Given the description of an element on the screen output the (x, y) to click on. 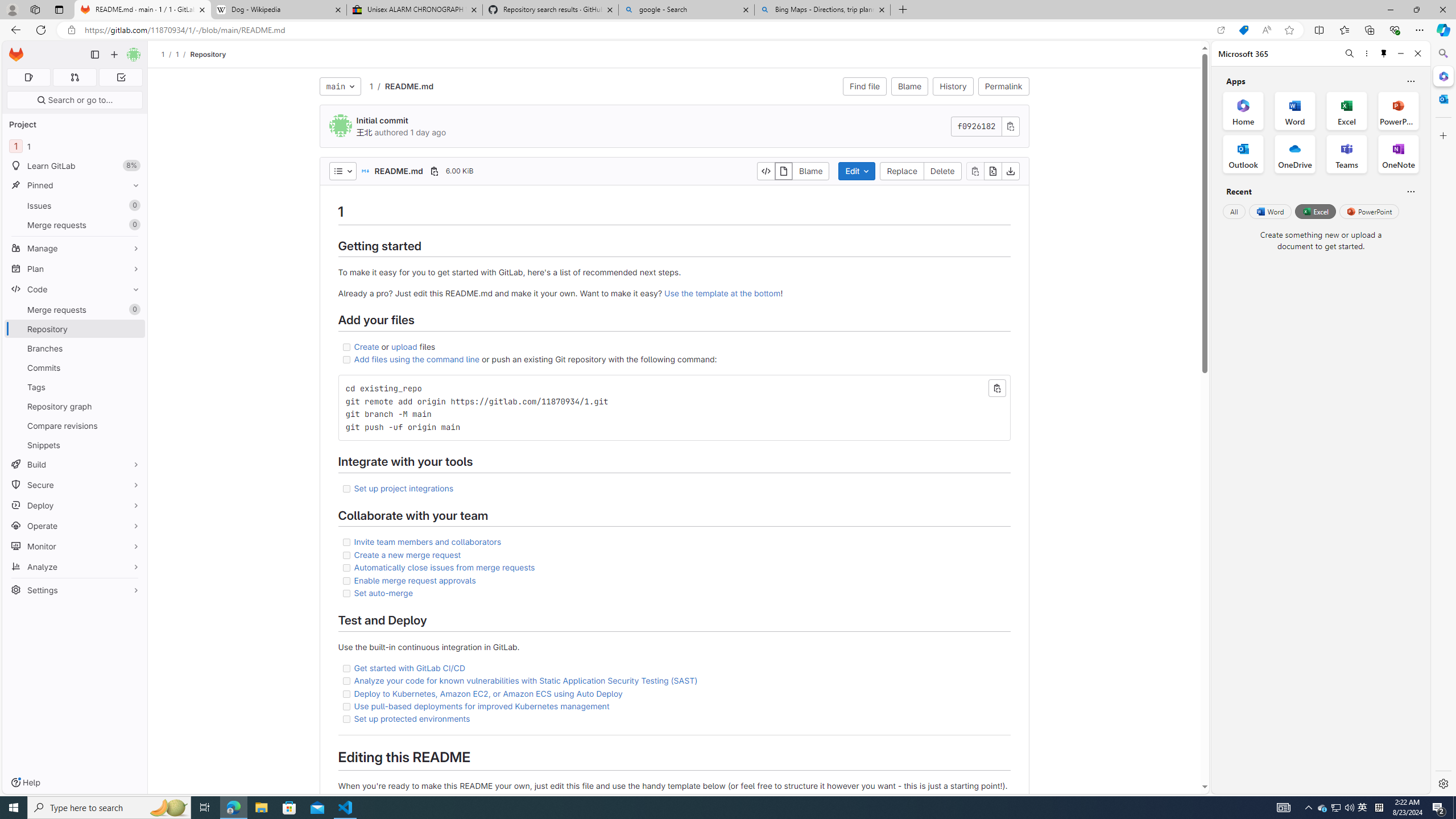
Deploy (74, 505)
Initial commit (381, 120)
Manage (74, 248)
Class: task-list-item-checkbox (346, 719)
main (339, 85)
Copy file contents (974, 171)
Invite team members and collaborators (427, 542)
Monitor (74, 546)
Blame (810, 171)
Repository graph (74, 406)
